Given the description of an element on the screen output the (x, y) to click on. 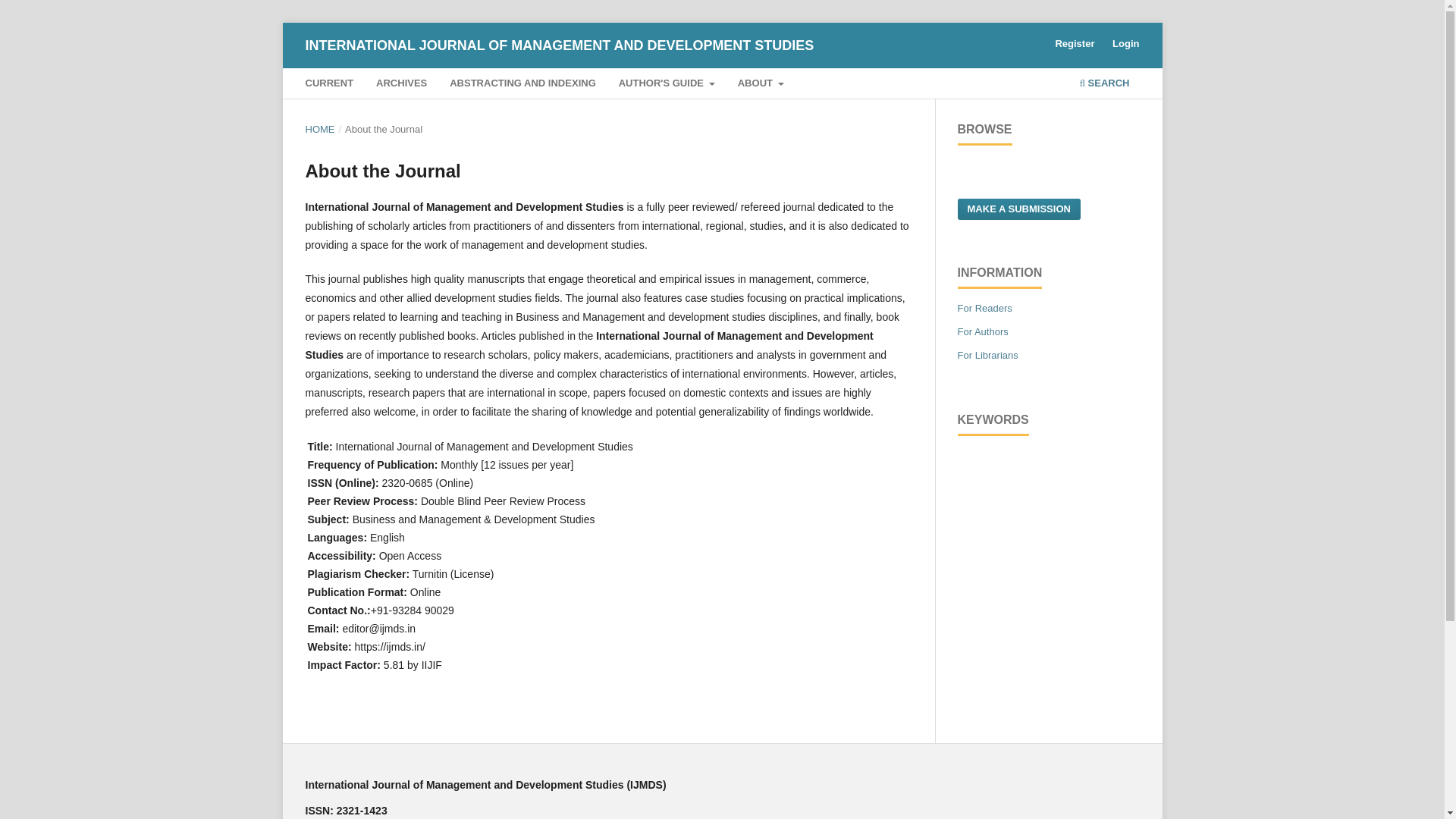
SEARCH (1104, 85)
HOME (319, 129)
ABSTRACTING AND INDEXING (523, 85)
MAKE A SUBMISSION (1018, 209)
AUTHOR'S GUIDE (665, 85)
CURRENT (328, 85)
For Readers (983, 307)
For Librarians (986, 355)
ARCHIVES (401, 85)
For Authors (981, 331)
ABOUT (760, 85)
INTERNATIONAL JOURNAL OF MANAGEMENT AND DEVELOPMENT STUDIES (558, 45)
Login (1126, 43)
Register (1074, 43)
